Given the description of an element on the screen output the (x, y) to click on. 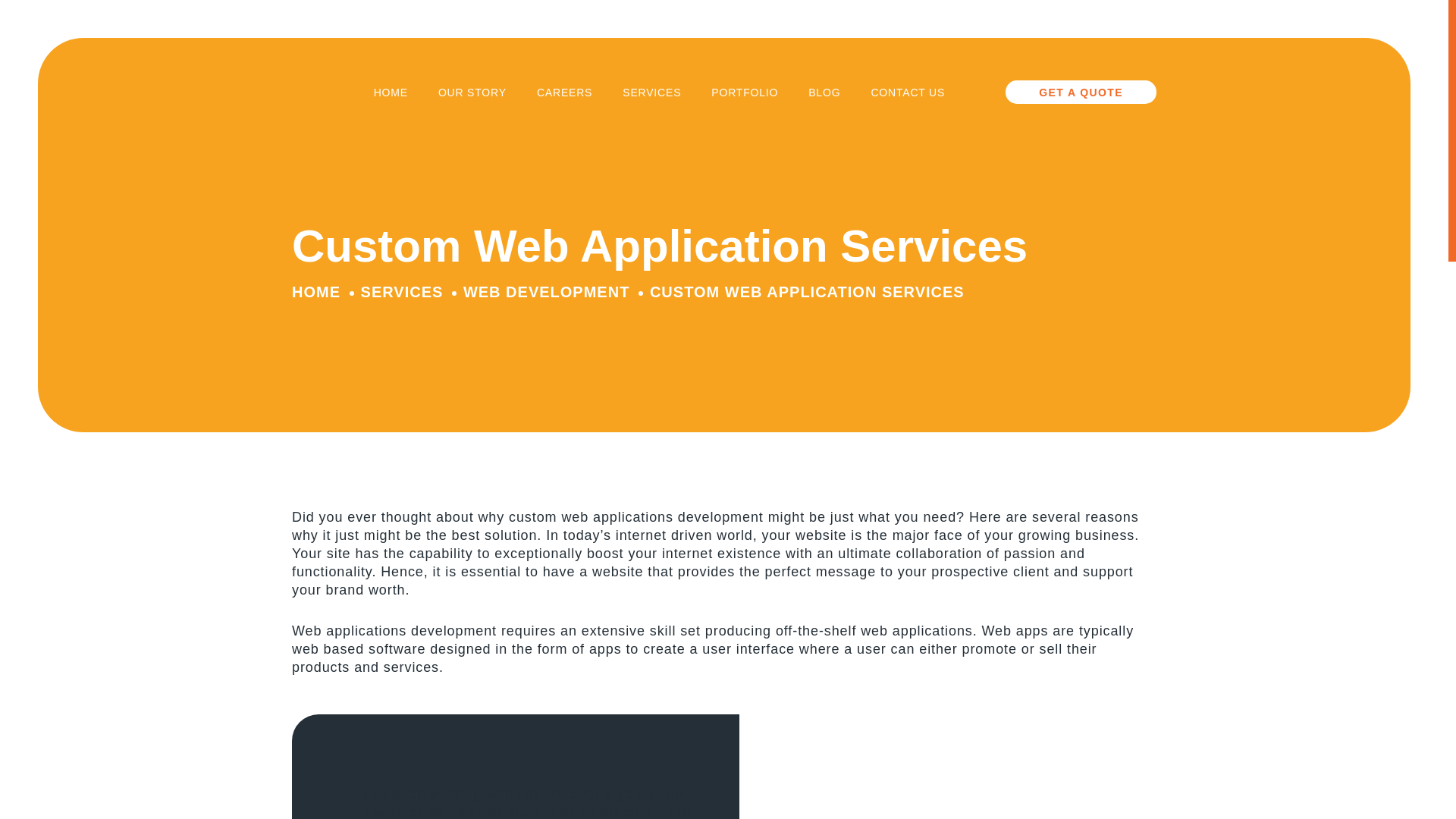
HOME (390, 94)
SERVICES (652, 94)
HOME (319, 291)
PORTFOLIO (744, 94)
OUR STORY (472, 94)
CAREERS (564, 94)
GET A QUOTE (1081, 92)
SERVICES (402, 291)
WEB DEVELOPMENT (546, 291)
BLOG (824, 94)
